Given the description of an element on the screen output the (x, y) to click on. 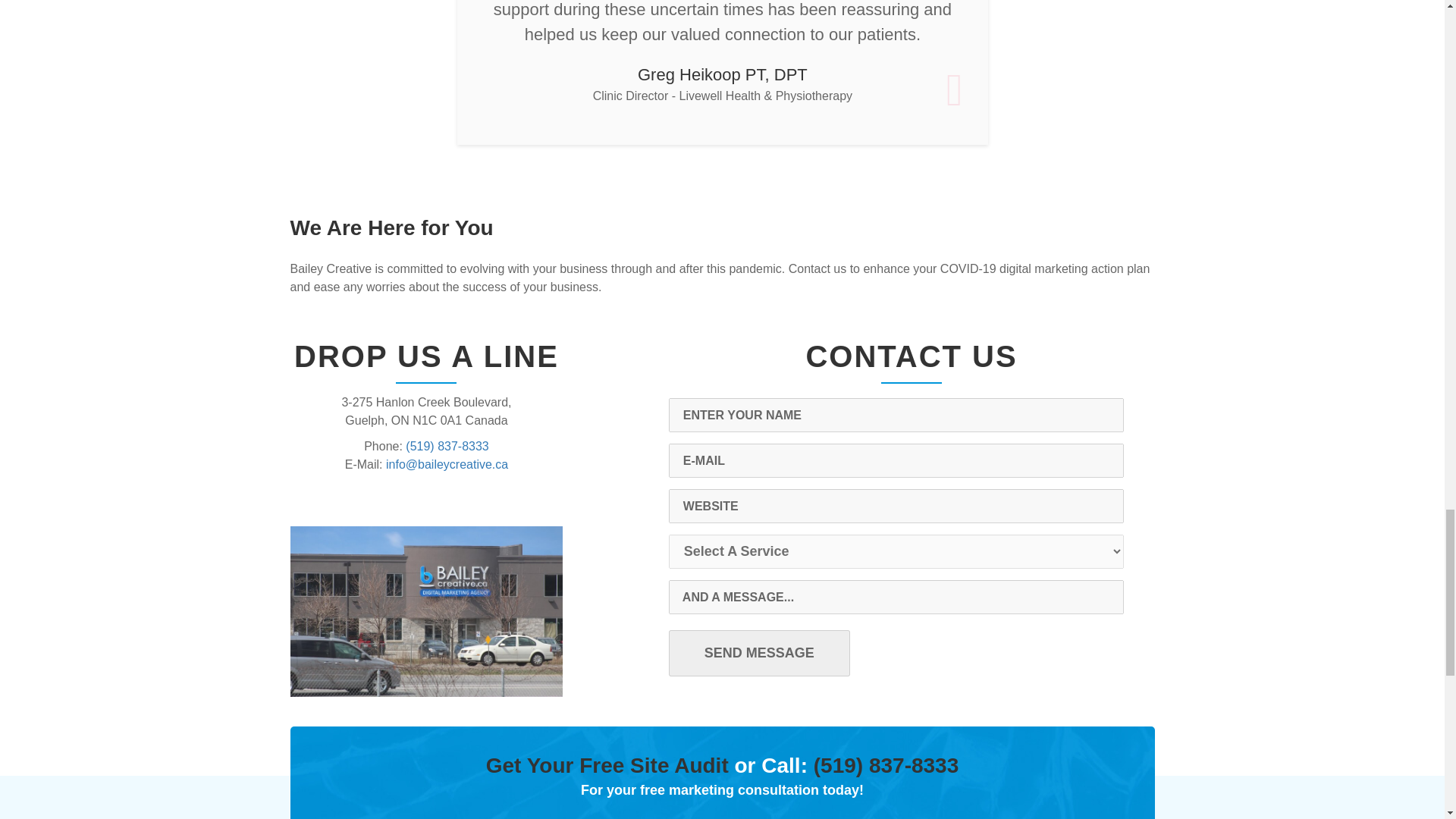
SEND MESSAGE (759, 652)
